Given the description of an element on the screen output the (x, y) to click on. 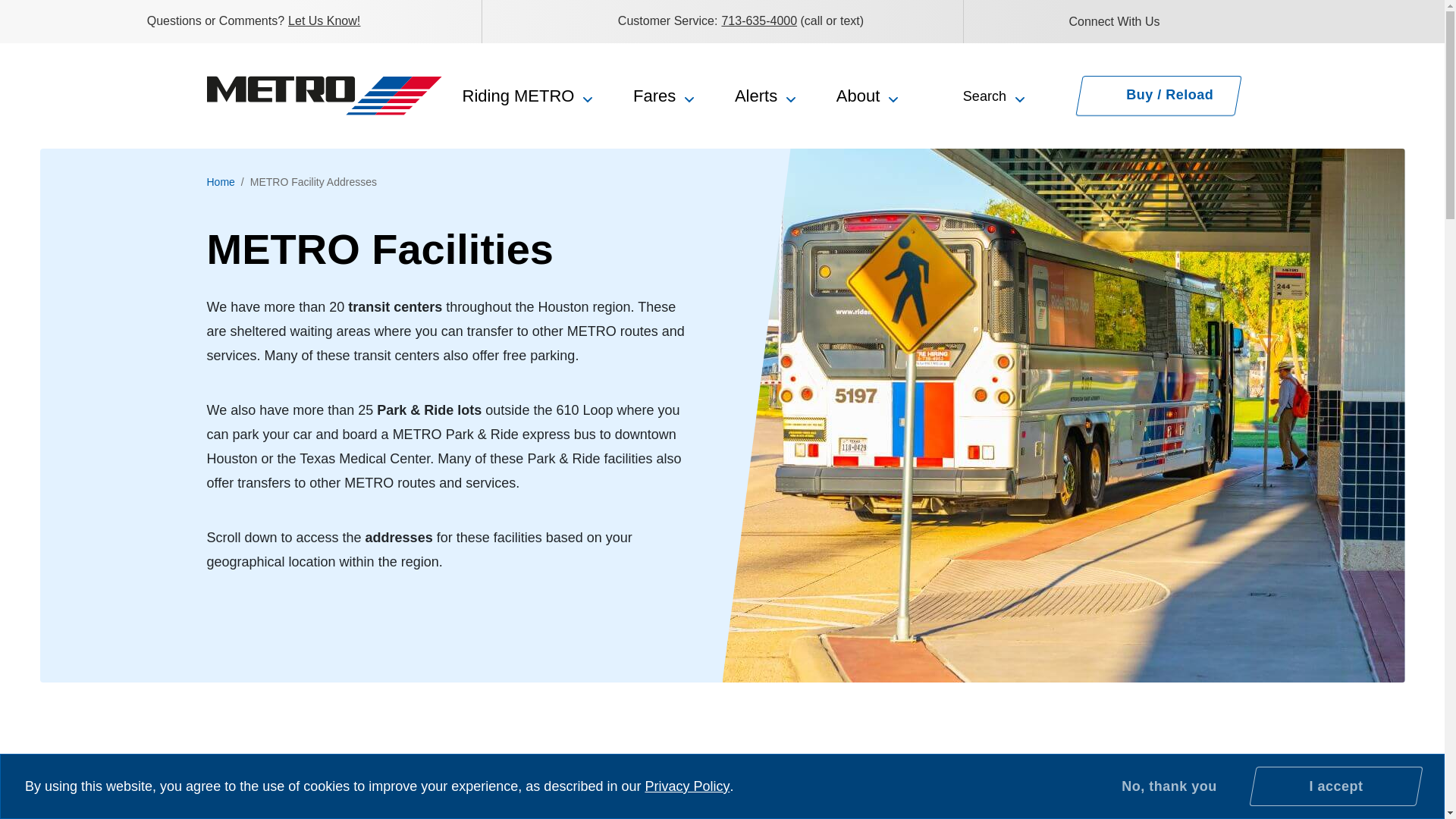
Podcast (1326, 19)
I accept (1332, 785)
No, thank you (1169, 785)
Privacy Policy (687, 785)
713-635-4000 (758, 20)
Riding METRO (528, 95)
